Given the description of an element on the screen output the (x, y) to click on. 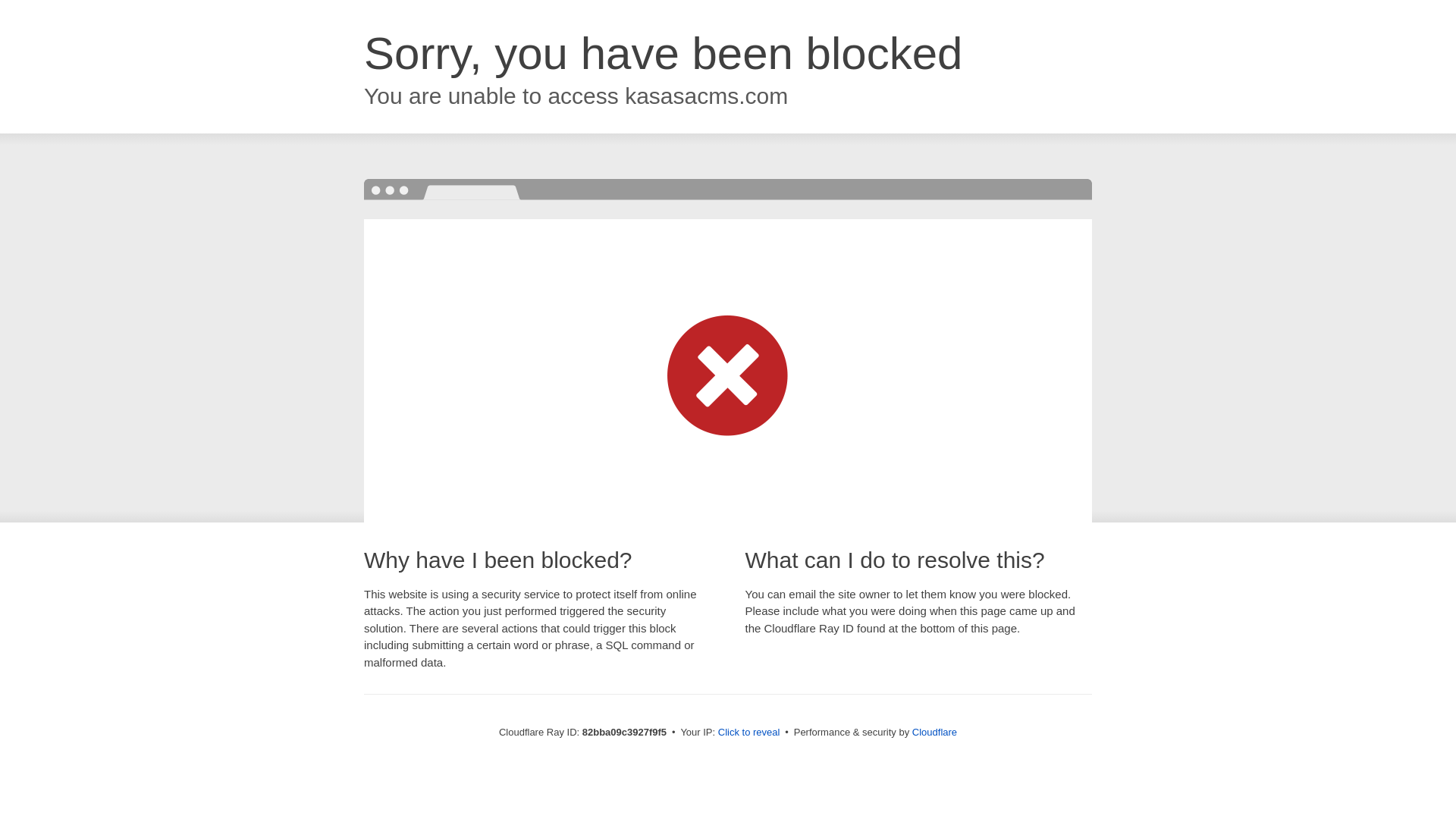
Click to reveal Element type: text (749, 732)
Cloudflare Element type: text (934, 731)
